Given the description of an element on the screen output the (x, y) to click on. 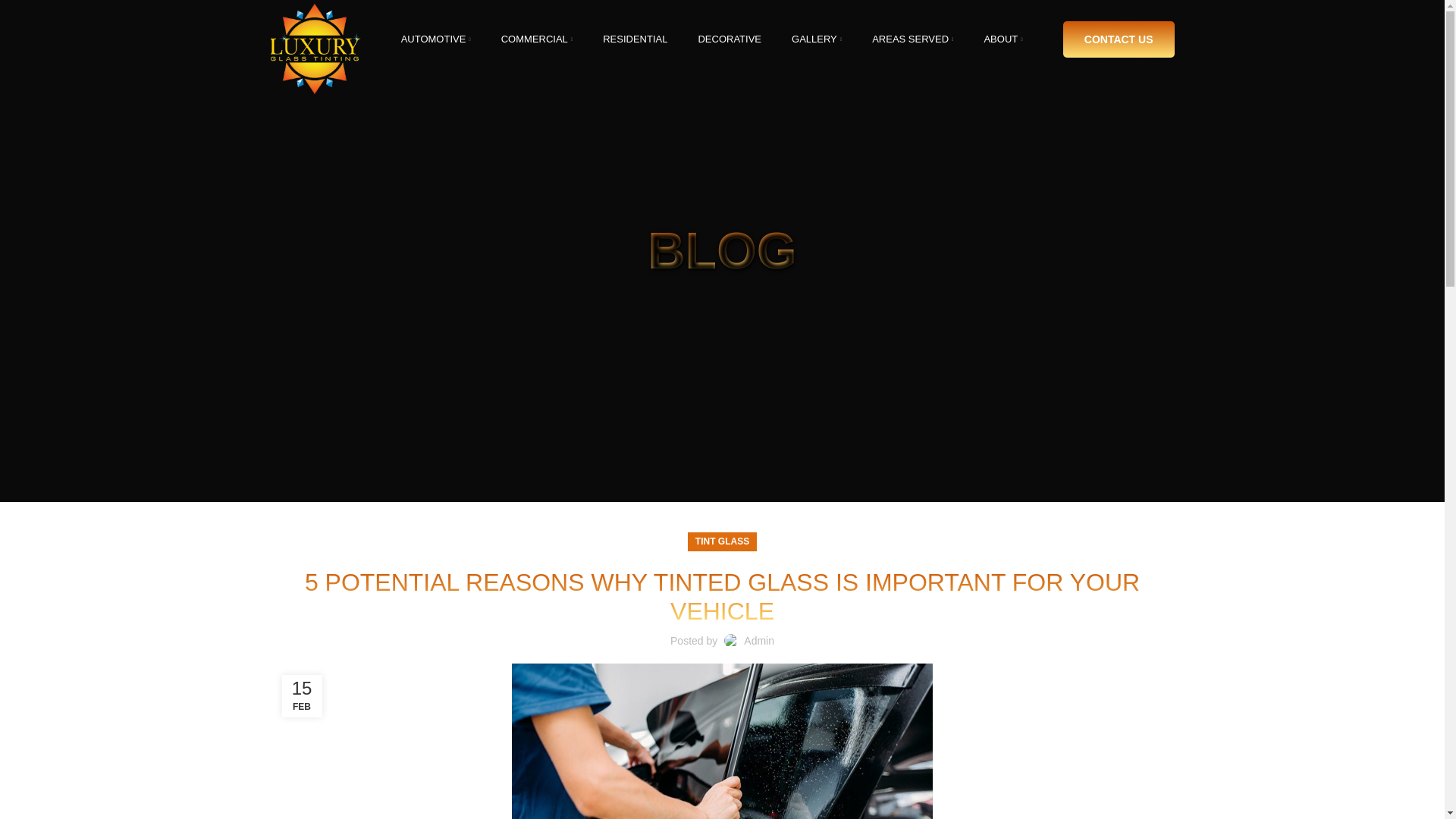
RESIDENTIAL (635, 39)
AREAS SERVED (912, 39)
COMMERCIAL (537, 39)
GALLERY (816, 39)
AUTOMOTIVE (435, 39)
DECORATIVE (729, 39)
